Given the description of an element on the screen output the (x, y) to click on. 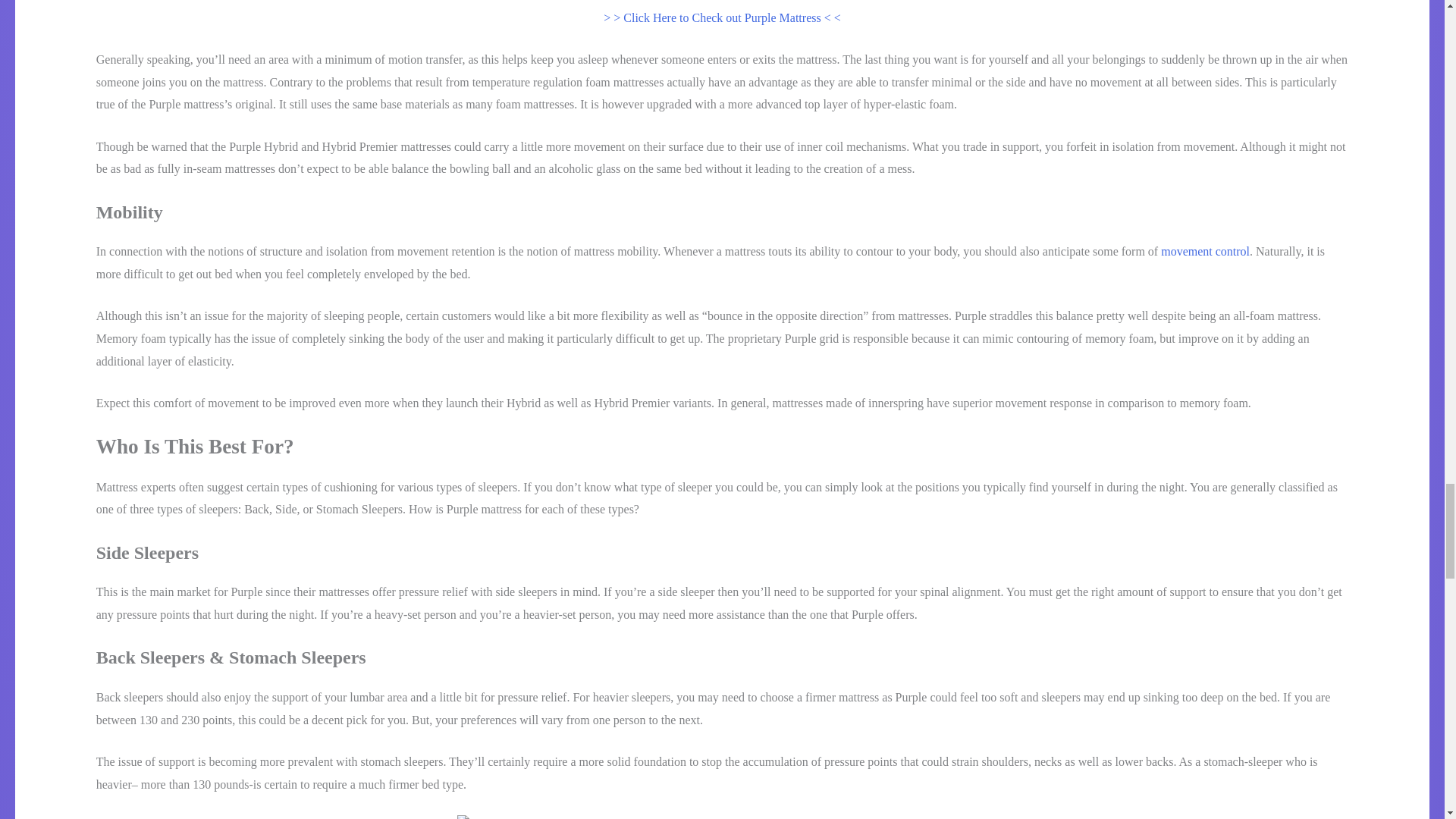
movement control (1204, 250)
